Given the description of an element on the screen output the (x, y) to click on. 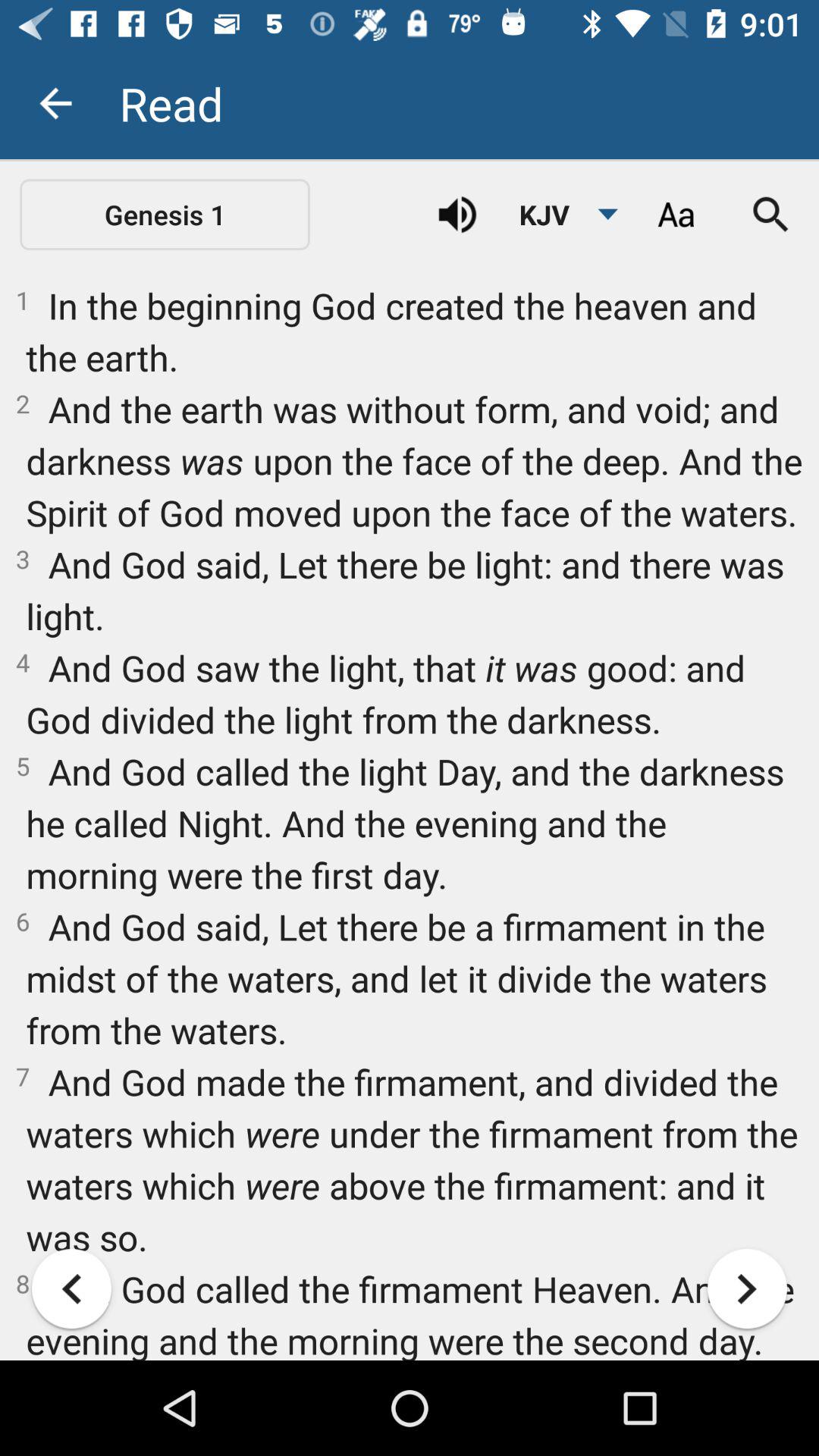
got to previous (71, 1288)
